Given the description of an element on the screen output the (x, y) to click on. 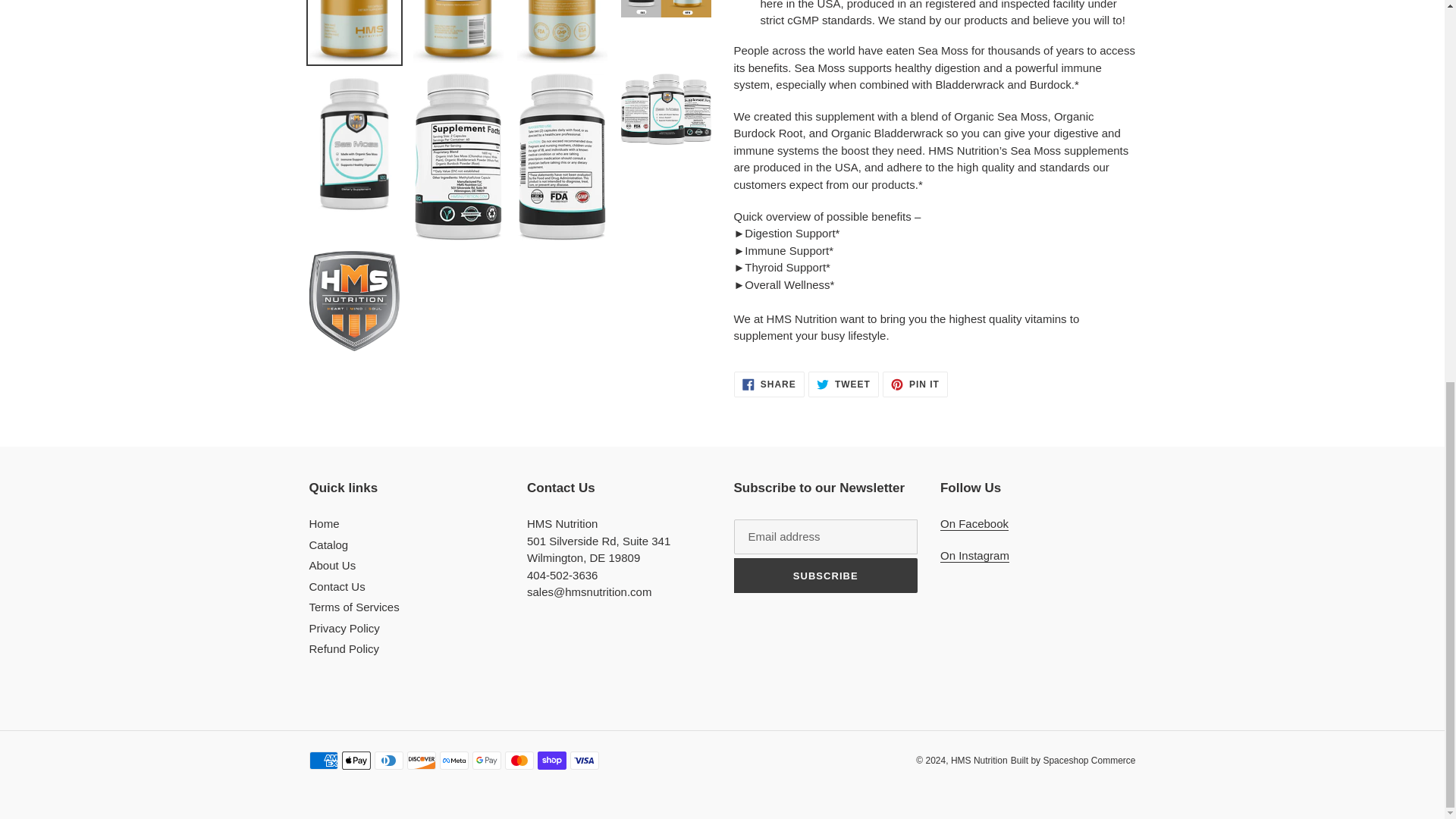
HMS Nutrition on Facebook (914, 384)
Home (769, 384)
HMS Nutrition on Instagram (974, 523)
